Given the description of an element on the screen output the (x, y) to click on. 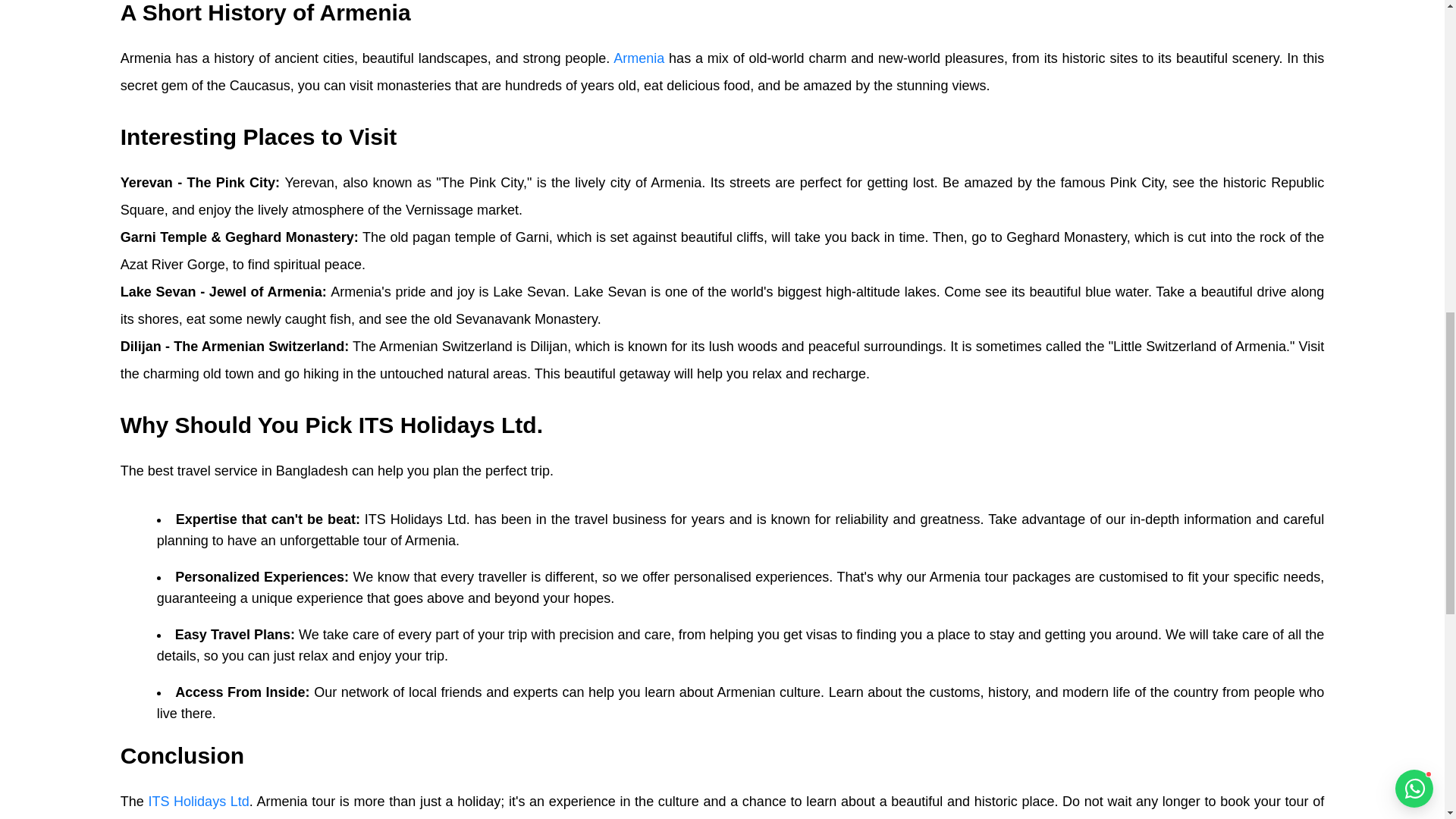
ITS Holidays Ltd (198, 801)
Armenia (637, 58)
